Given the description of an element on the screen output the (x, y) to click on. 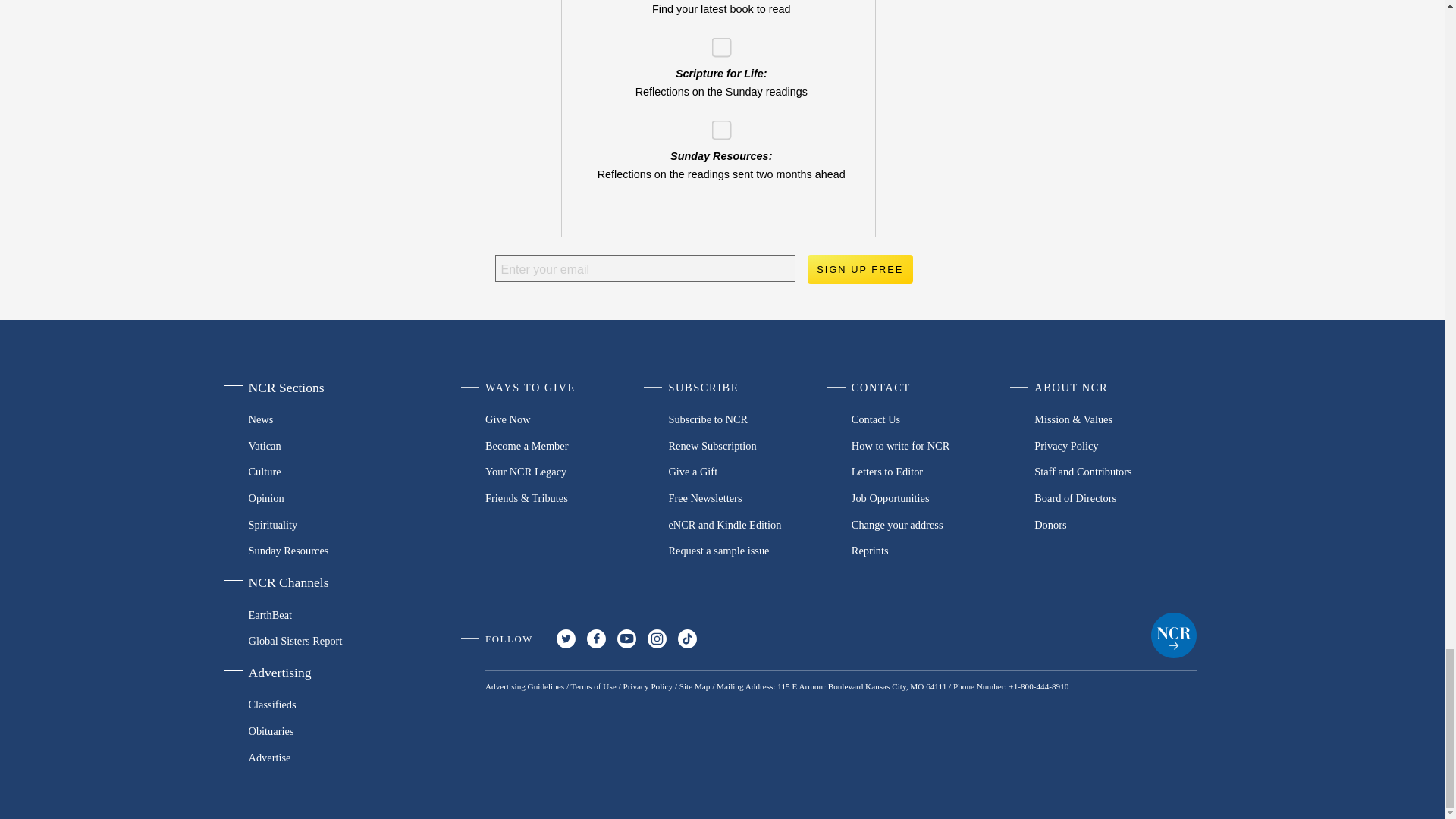
c25324053e (715, 41)
Advertise with NCR (324, 756)
Request a sample issue of NCR (748, 550)
How to write for NCR (932, 445)
Request a reprint of NCR content (932, 550)
Donors (1114, 524)
Sign up free (859, 268)
Change your address (932, 524)
dfa4c56aff (715, 124)
